Given the description of an element on the screen output the (x, y) to click on. 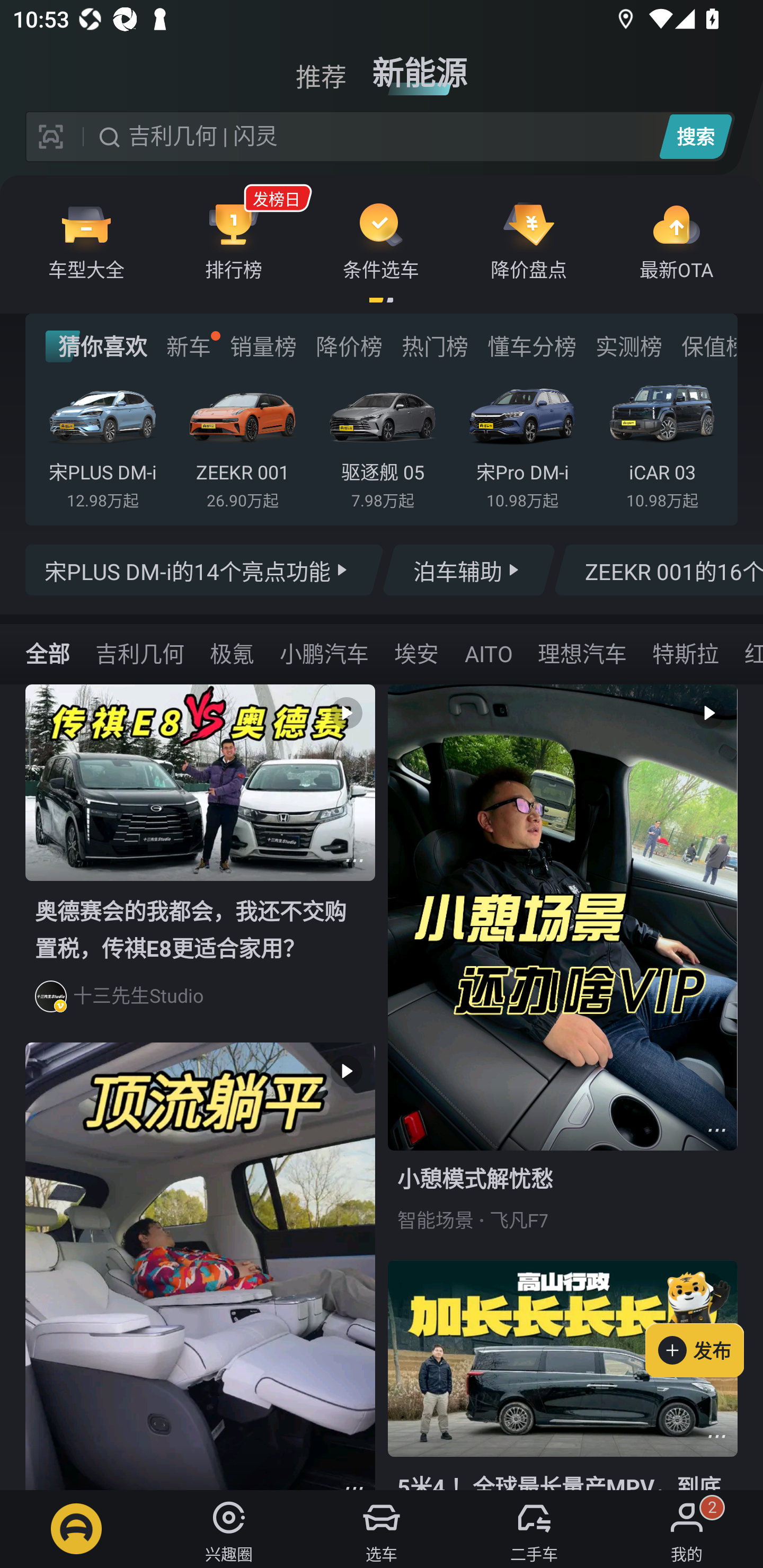
推荐 (321, 65)
新能源 (419, 65)
搜索 (695, 136)
车型大全 (86, 240)
发榜日 排行榜 (233, 240)
条件选车 (380, 240)
降价盘点 (528, 240)
最新OTA (676, 240)
猜你喜欢 (96, 346)
新车 (188, 346)
销量榜 (262, 346)
降价榜 (348, 346)
热门榜 (434, 346)
懂车分榜 (531, 346)
实测榜 (628, 346)
保值榜 (708, 346)
宋PLUS DM-i 12.98万起 (102, 442)
ZEEKR 001 26.90万起 (242, 442)
驱逐舰 05 7.98万起 (382, 442)
宋Pro DM-i 10.98万起 (522, 442)
iCAR 03 10.98万起 (662, 442)
宋PLUS DM-i的14个亮点功能 (204, 569)
泊车辅助 (468, 569)
ZEEKR 001的16个亮点功能 (658, 569)
全部 (47, 652)
吉利几何 (139, 652)
极氪 (231, 652)
小鹏汽车 (324, 652)
埃安 (416, 652)
AITO (487, 652)
理想汽车 (581, 652)
特斯拉 (685, 652)
  奥德赛会的我都会，我还不交购置税，传祺E8更适合家用？ 十三先生Studio (200, 862)
  小憩模式解忧愁 智能场景 飞凡F7 (562, 971)
 (354, 860)
  (200, 1265)
 (716, 1130)
飞凡F7 (518, 1220)
  5米4 ！全球最长量产MPV，到底好不好开？ (562, 1374)
发布 (704, 1320)
 (716, 1436)
 兴趣圈 (228, 1528)
 选车 (381, 1528)
 二手车 (533, 1528)
 我的 (686, 1528)
